Given the description of an element on the screen output the (x, y) to click on. 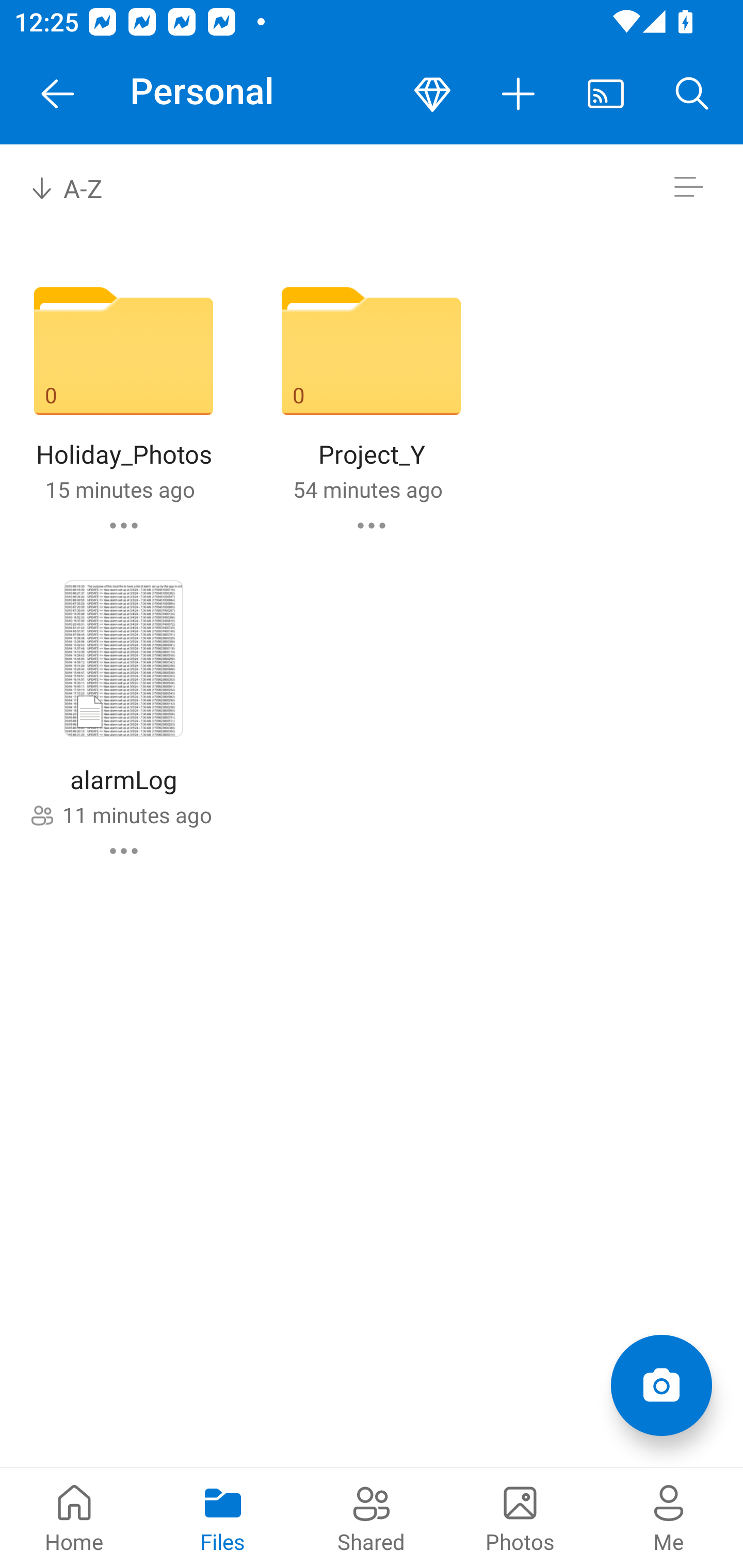
Navigate Up (57, 93)
Cast. Disconnected (605, 93)
Premium button (432, 93)
More actions button (518, 93)
Search button (692, 93)
A-Z Sort by combo box, sort by name, A to Z (80, 187)
Switch to list view (688, 187)
15 minutes ago (119, 489)
54 minutes ago (367, 489)
Holiday_Photos commands (123, 525)
Project_Y commands (371, 525)
11 minutes ago (136, 814)
alarmLog commands (123, 851)
Add items Scan (660, 1385)
Home pivot Home (74, 1517)
Shared pivot Shared (371, 1517)
Photos pivot Photos (519, 1517)
Me pivot Me (668, 1517)
